Given the description of an element on the screen output the (x, y) to click on. 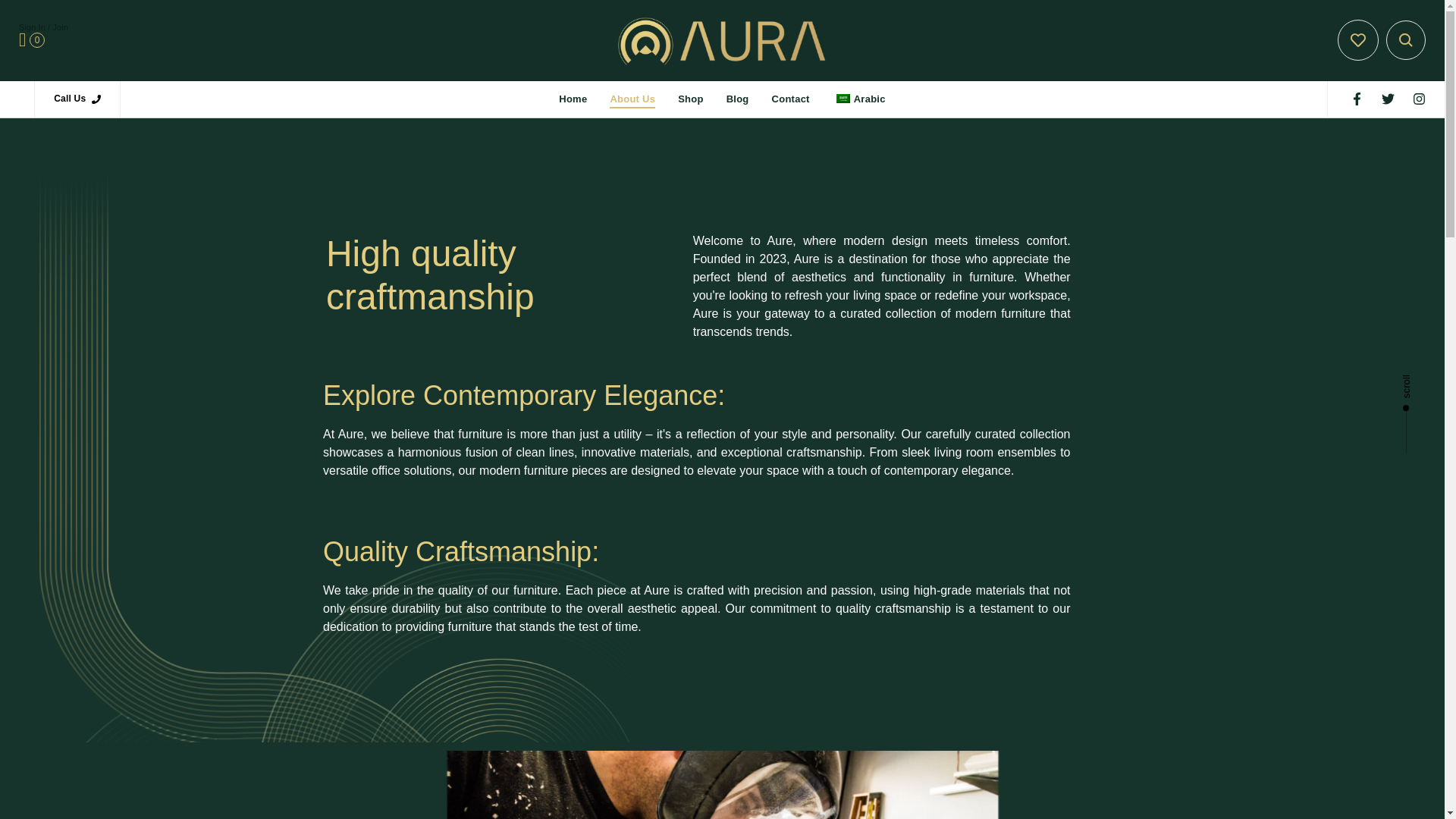
Contact (790, 99)
Home (572, 99)
Call Us (76, 99)
Arabic (858, 99)
About Us (632, 99)
Arabic (842, 98)
Shop (690, 99)
Blog (737, 99)
